Given the description of an element on the screen output the (x, y) to click on. 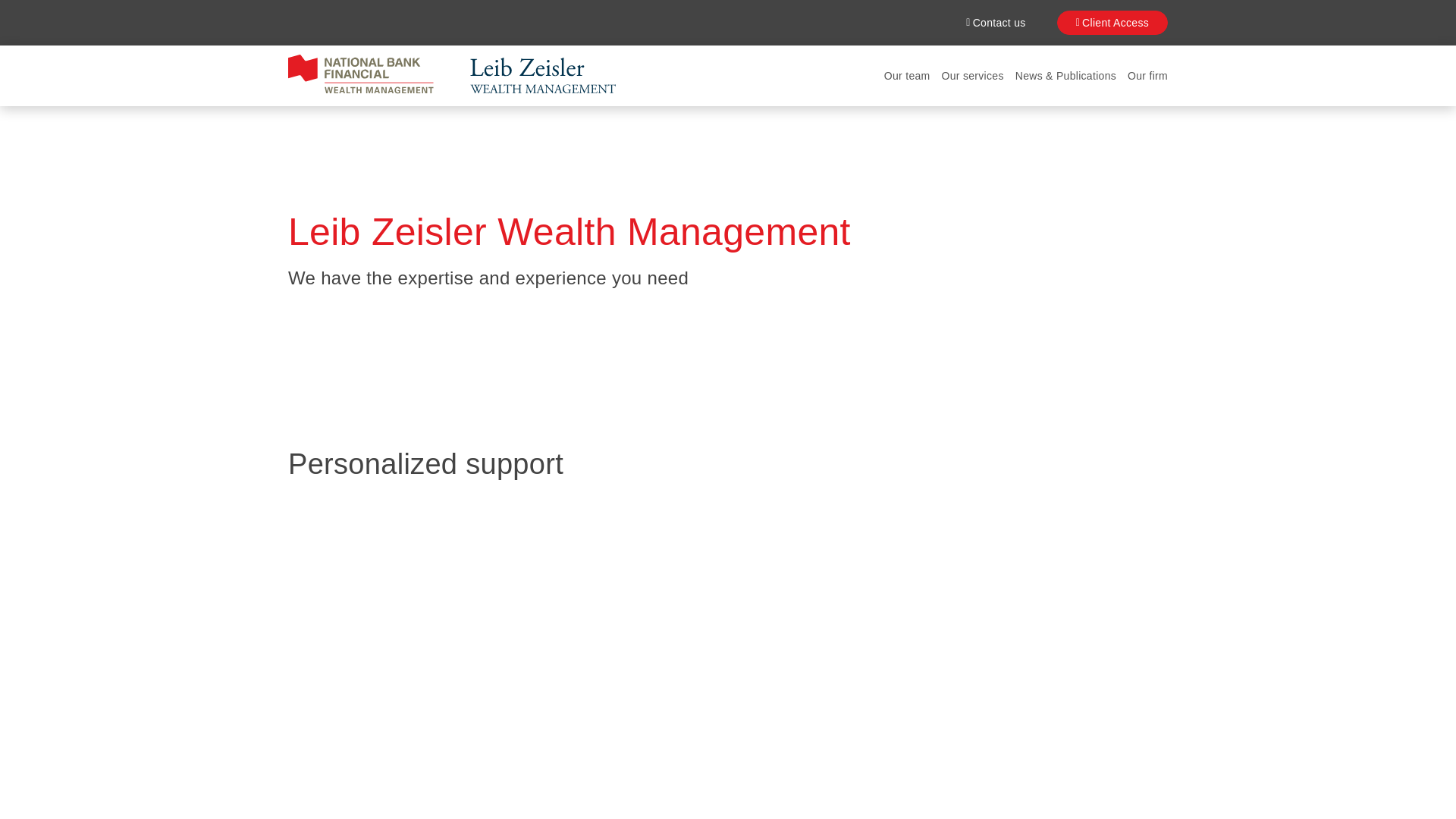
Our services (973, 75)
Client Access (1112, 22)
Contact us (995, 22)
Our team (906, 75)
Our firm (1146, 75)
